Given the description of an element on the screen output the (x, y) to click on. 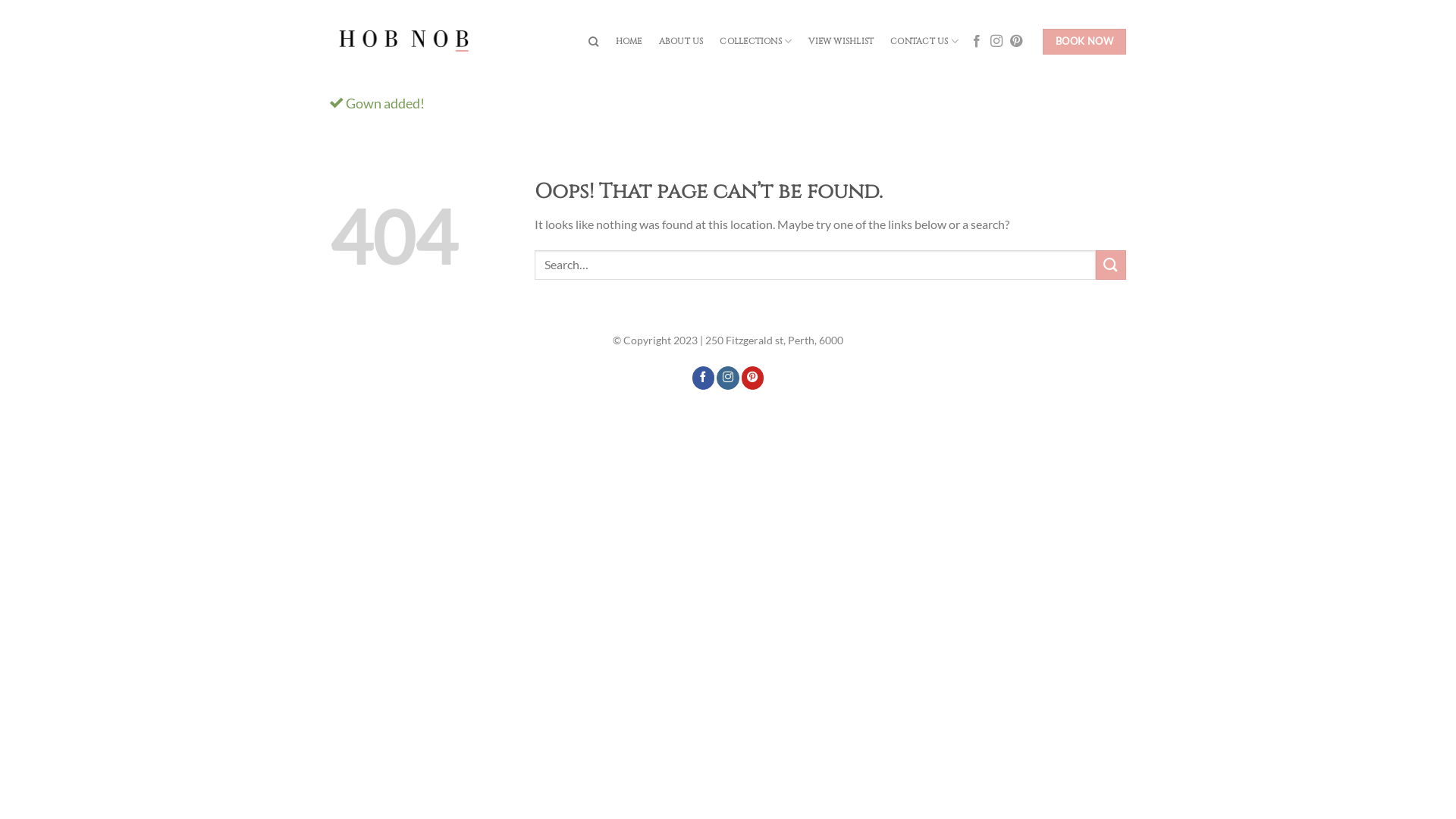
BOOK NOW Element type: text (1084, 41)
ABOUT US Element type: text (680, 41)
Skip to content Element type: text (0, 0)
HOME Element type: text (628, 41)
VIEW WISHLIST Element type: text (840, 41)
COLLECTIONS Element type: text (755, 41)
CONTACT US Element type: text (924, 41)
